Given the description of an element on the screen output the (x, y) to click on. 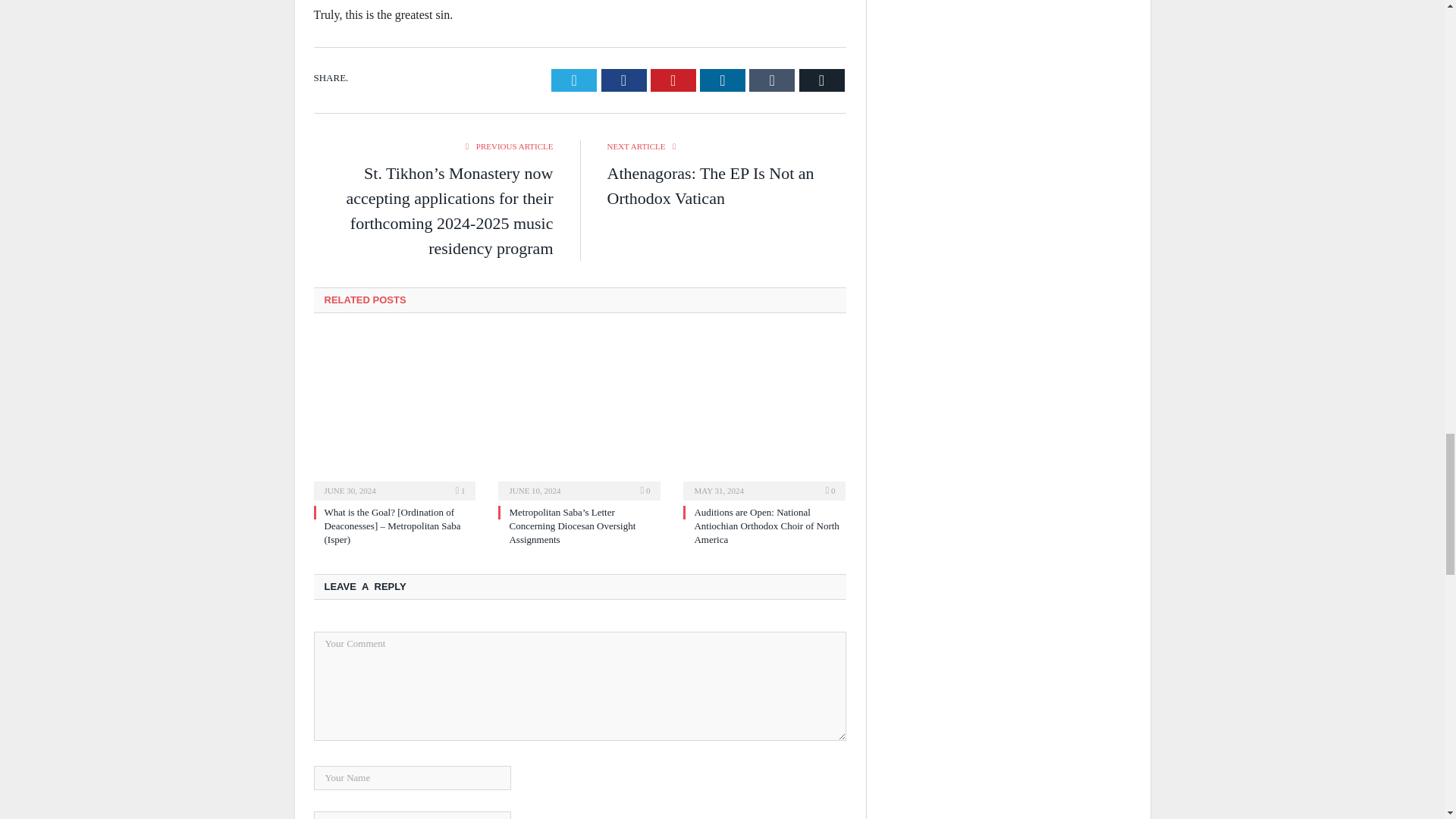
Share on Facebook (622, 79)
Share via Email (821, 79)
Share on Pinterest (672, 79)
Tweet It (573, 79)
Share on Tumblr (771, 79)
Share on LinkedIn (722, 79)
